Given the description of an element on the screen output the (x, y) to click on. 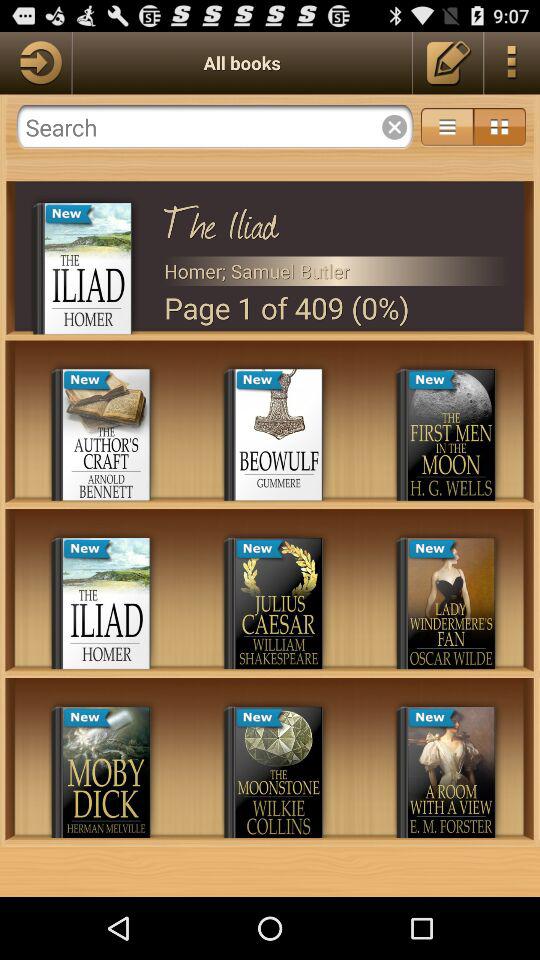
search (214, 127)
